Given the description of an element on the screen output the (x, y) to click on. 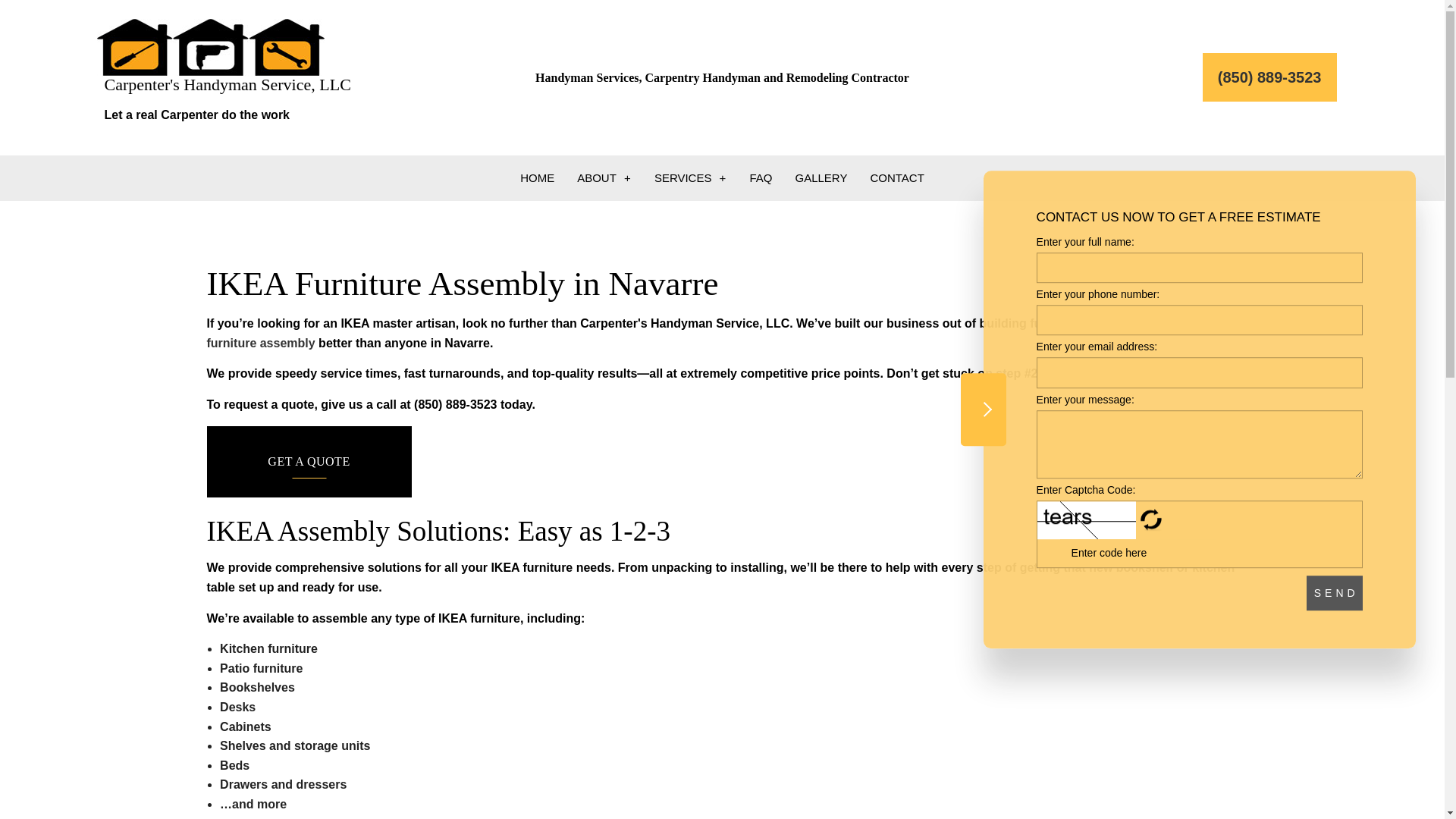
Carpenter's Handyman Service, LLC (210, 46)
Email Address (1199, 372)
Refresh Captcha (1151, 519)
Your Message (1199, 444)
HOME (537, 177)
Learn more about IKEA Furniture Assembly (699, 332)
Full Name (1199, 267)
Captcha Code (1137, 552)
Phone Number (1199, 319)
